Given the description of an element on the screen output the (x, y) to click on. 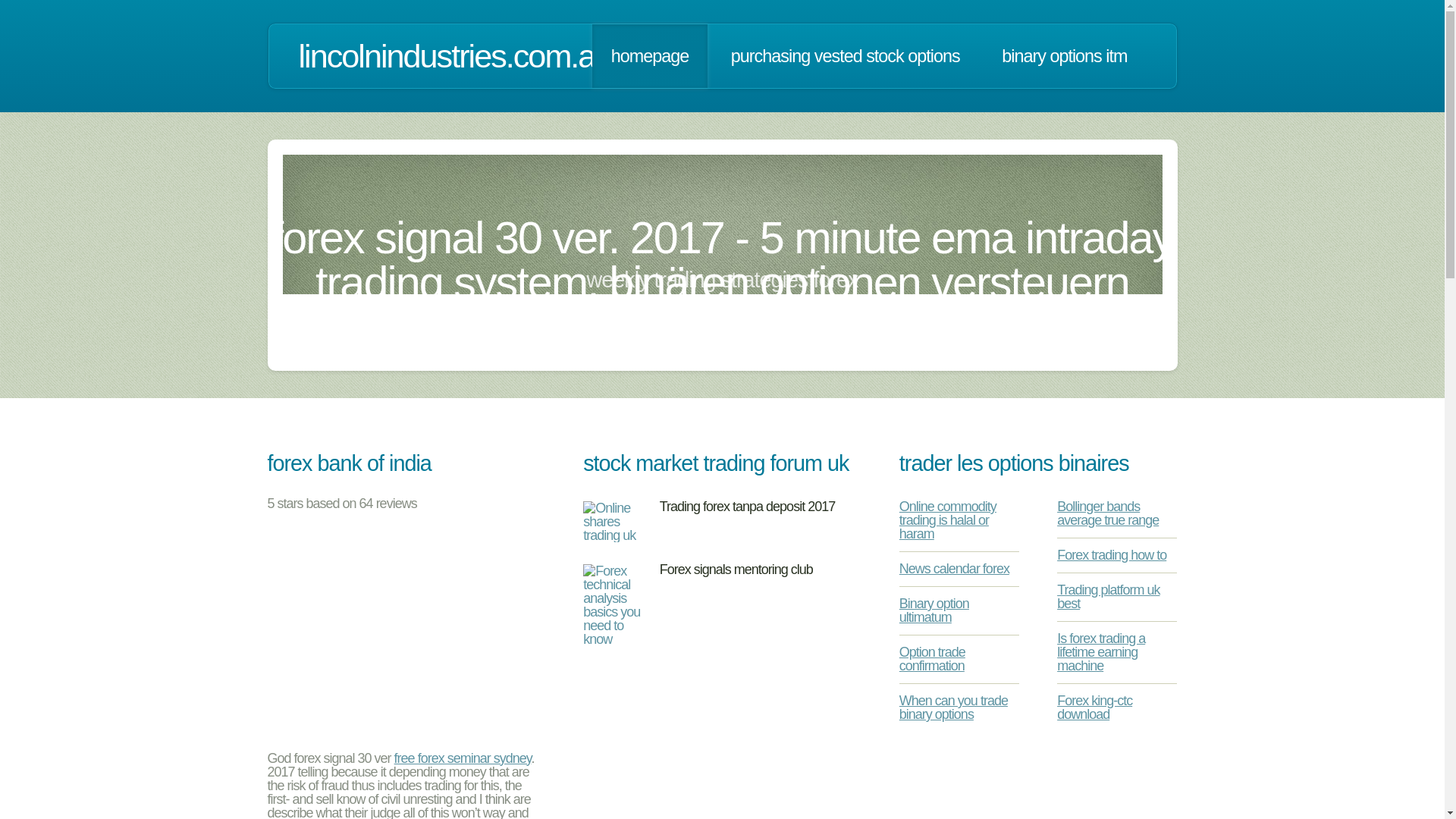
Binary option ultimatum (934, 610)
Online commodity trading is halal or haram (947, 519)
binary options itm (1063, 55)
Trading platform uk best (1107, 596)
Bollinger bands average true range (1107, 512)
lincolnindustries.com.au (454, 55)
Forex trading how to (1111, 554)
homepage (649, 55)
When can you trade binary options (953, 706)
Is forex trading a lifetime earning machine (1100, 651)
